Given the description of an element on the screen output the (x, y) to click on. 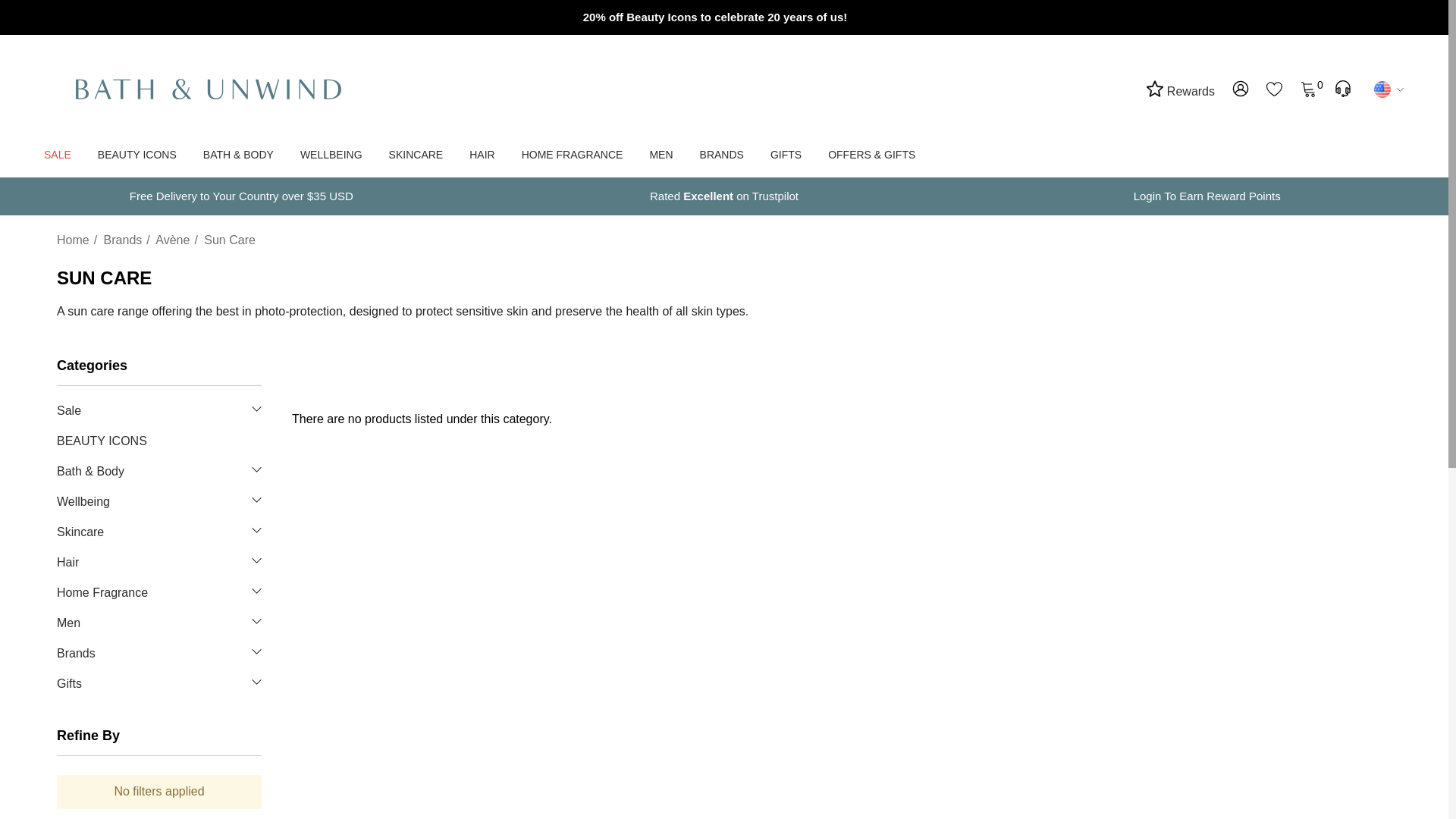
WISH LISTS WISH LISTS (1274, 88)
YOUR BASKET YOUR BASKET (1308, 88)
LIVE HELP LIVE HELP (1343, 88)
Rewards (1180, 89)
WISH LISTS WISH LISTS (1307, 88)
SALE (1273, 88)
LOGO SLATE GREENvector (57, 155)
ACCOUNT ACCOUNT (168, 89)
LOGO SLATE GREENvector (1240, 88)
